Given the description of an element on the screen output the (x, y) to click on. 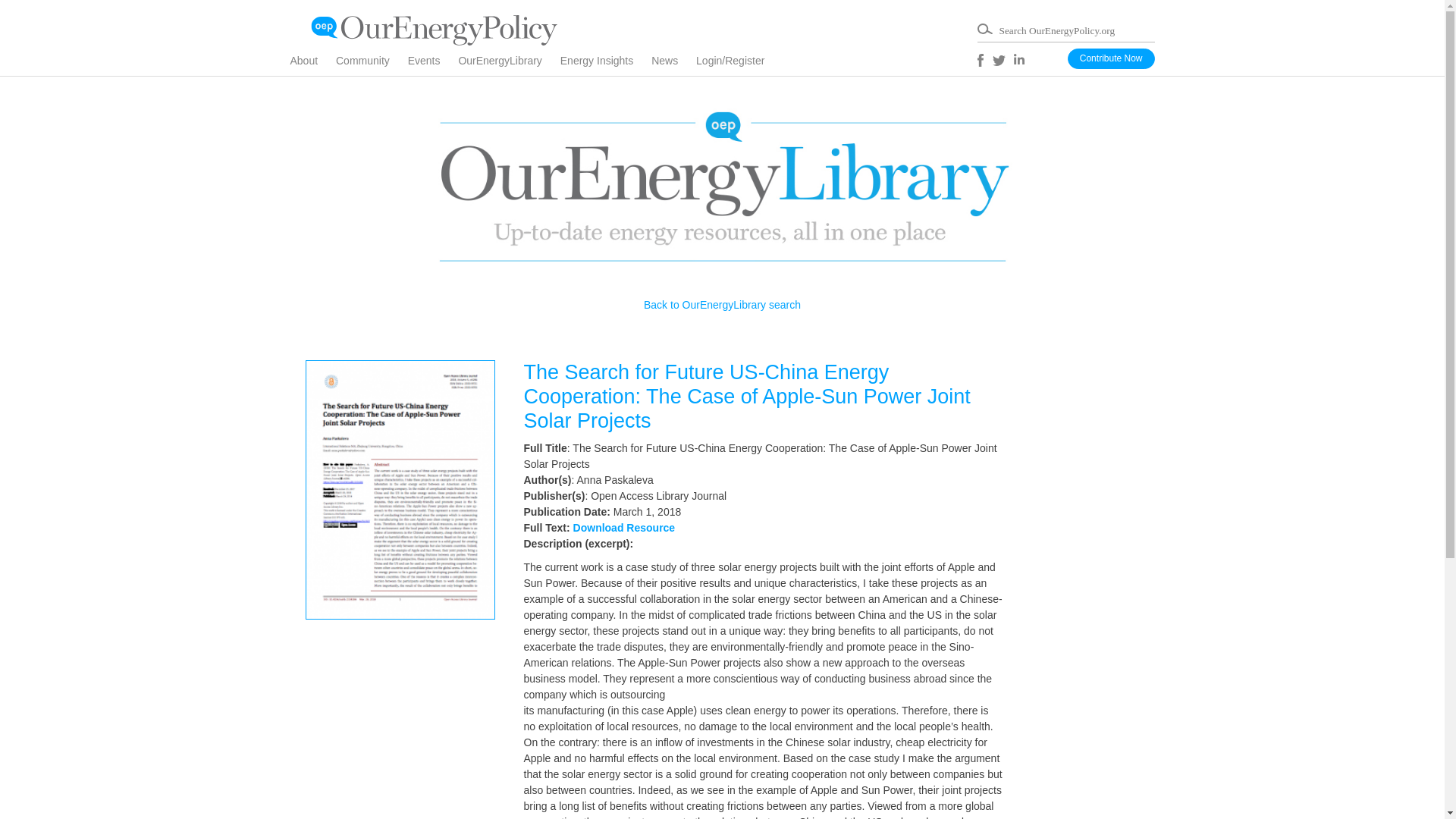
Download Resource (624, 527)
Back to OurEnergyLibrary search (721, 304)
Energy Insights (604, 65)
OurEnergyLibrary (507, 65)
Contribute Now (1110, 58)
Events (431, 65)
About (311, 65)
News (671, 65)
Community (370, 65)
